Given the description of an element on the screen output the (x, y) to click on. 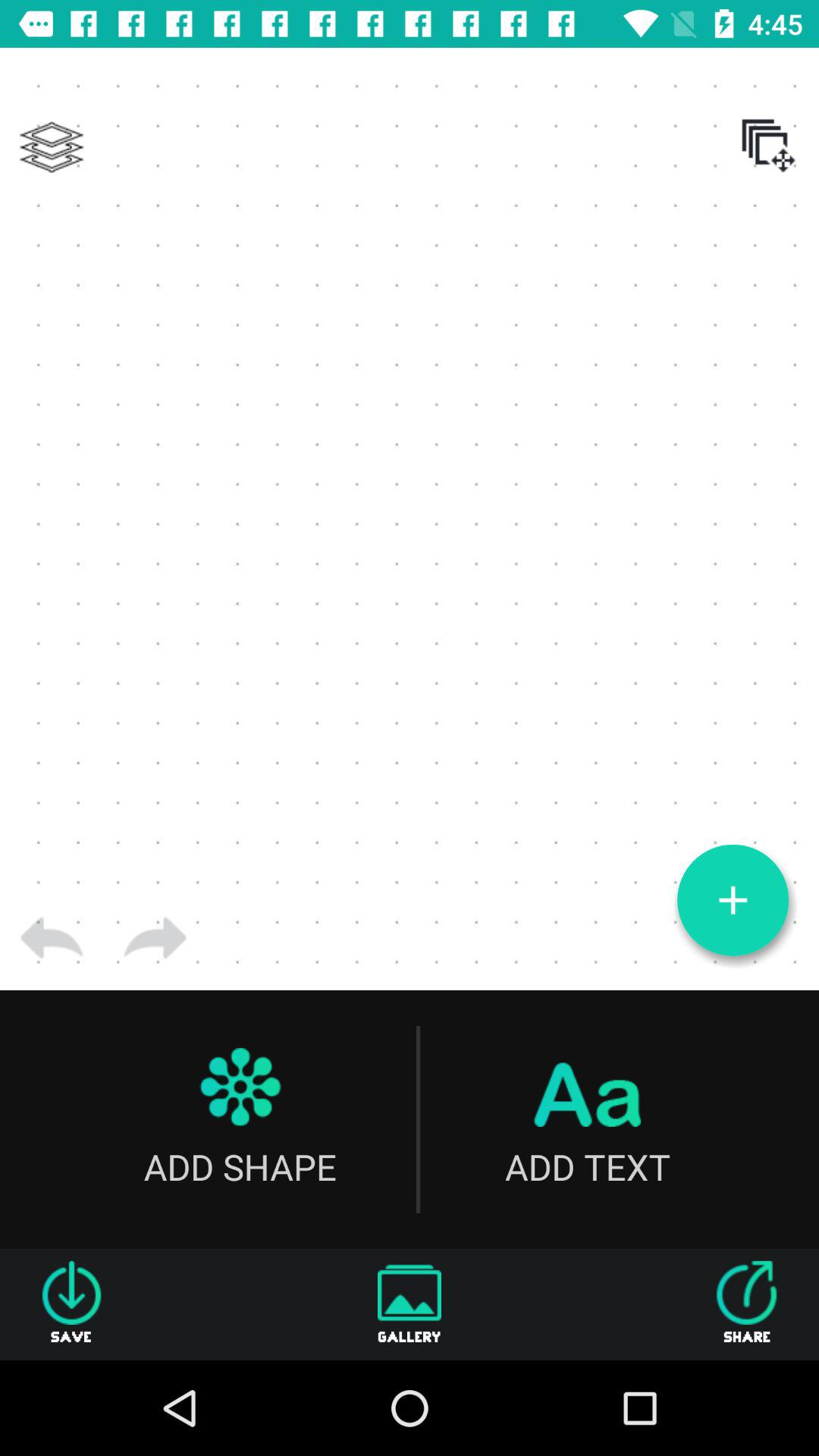
click the item to the left of share item (409, 1304)
